Given the description of an element on the screen output the (x, y) to click on. 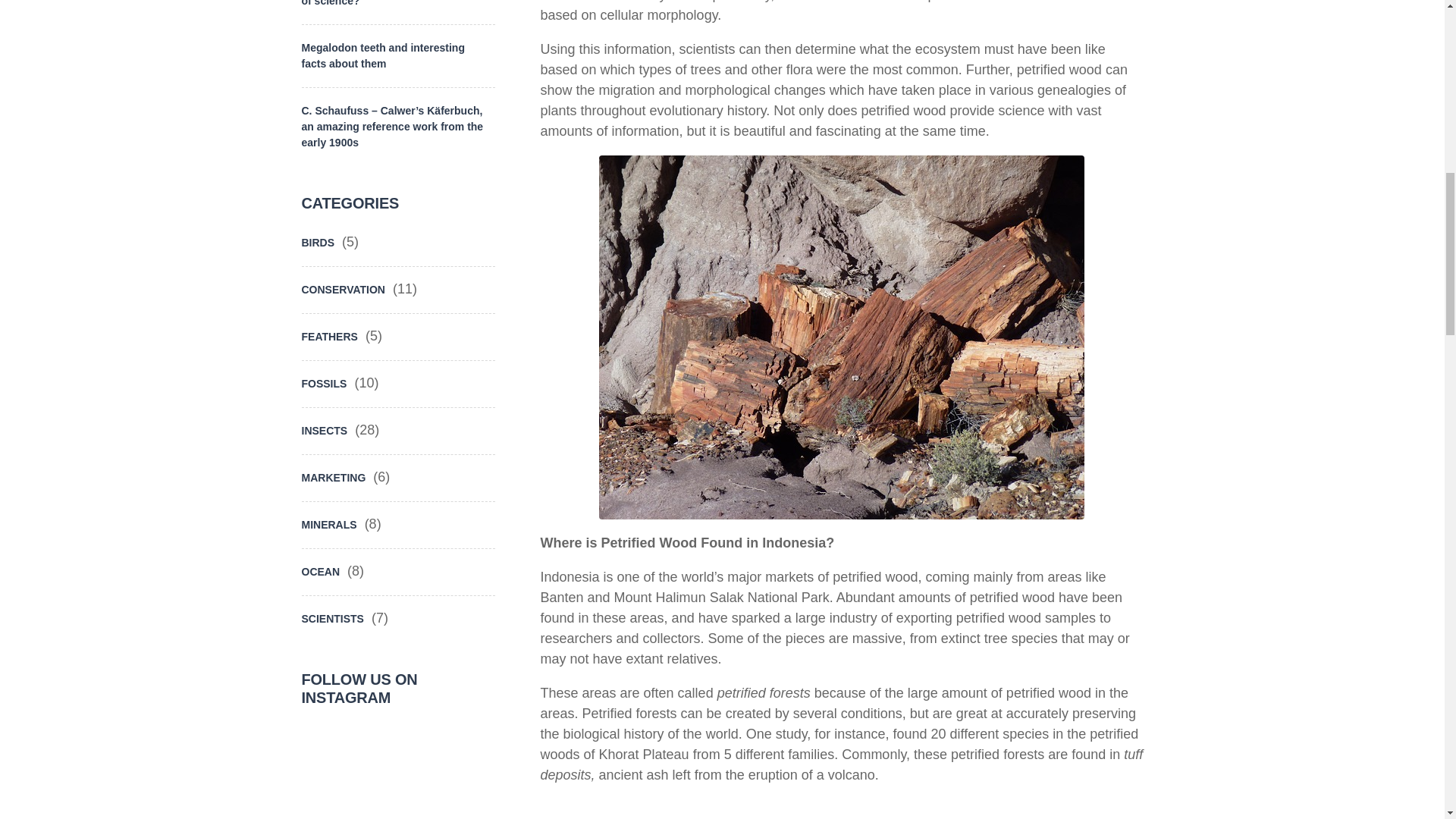
FOSSILS (324, 383)
MARKETING (333, 477)
Megalodon teeth and interesting facts about them (396, 55)
FEATHERS (329, 336)
CONSERVATION (343, 289)
BIRDS (317, 250)
INSECTS (324, 430)
